Given the description of an element on the screen output the (x, y) to click on. 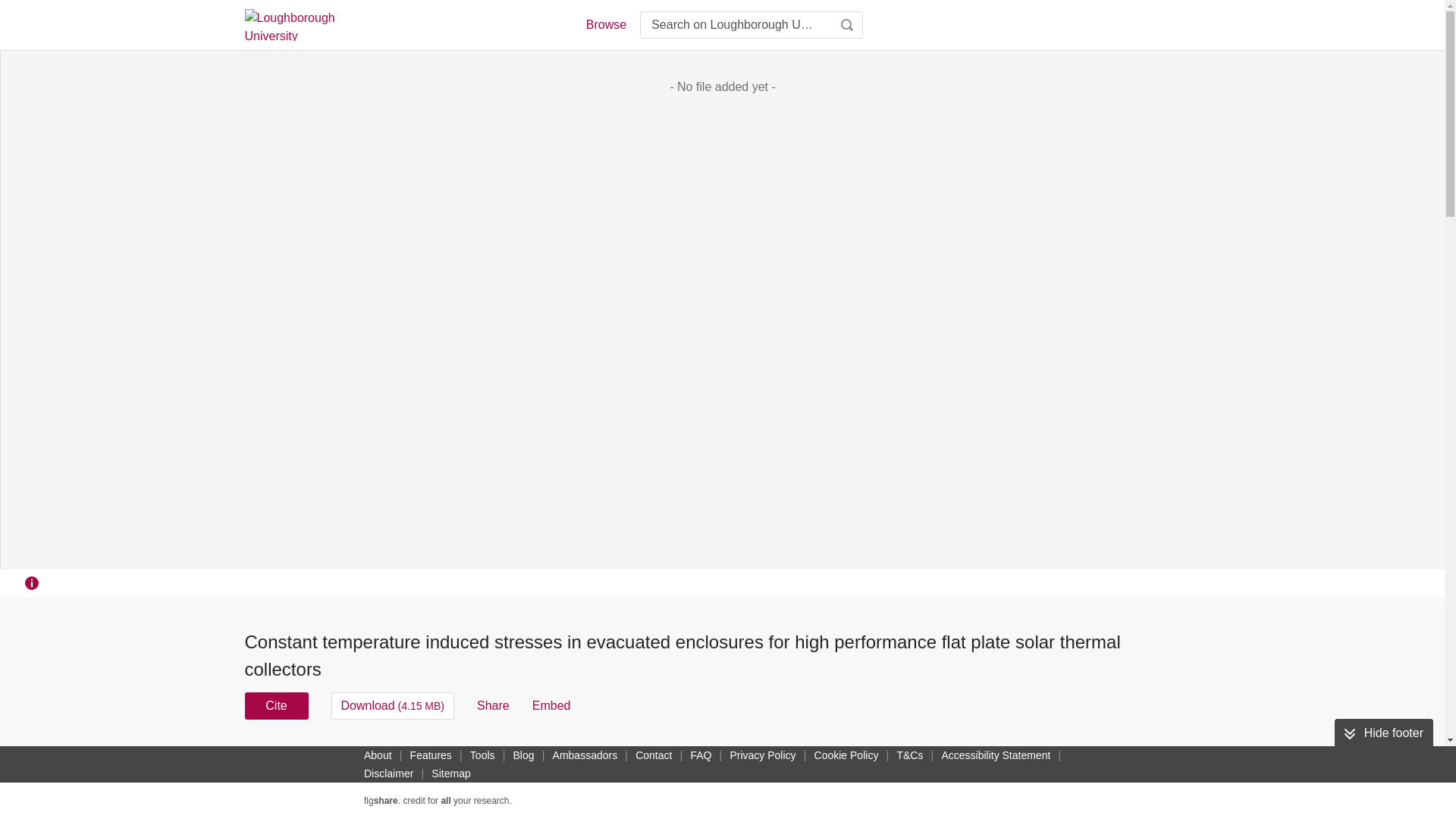
Blog (523, 755)
Cite (275, 705)
Cookie Policy (846, 755)
Browse (605, 24)
Disclaimer (388, 773)
Features (431, 755)
Hide footer (1383, 733)
Accessibility Statement (995, 755)
Tools (482, 755)
Philip Eames (700, 755)
